Given the description of an element on the screen output the (x, y) to click on. 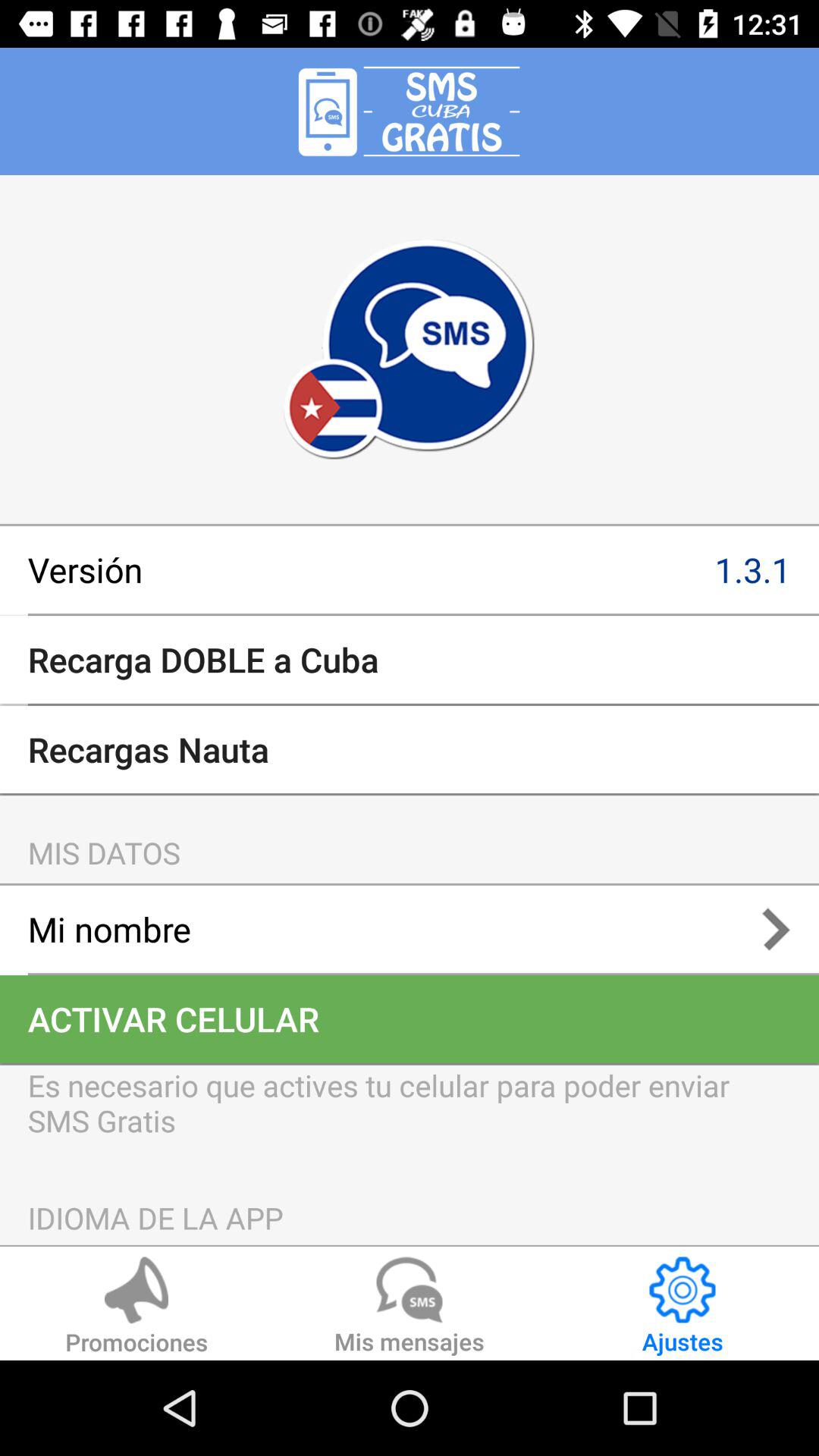
open button next to the promociones (409, 1308)
